Given the description of an element on the screen output the (x, y) to click on. 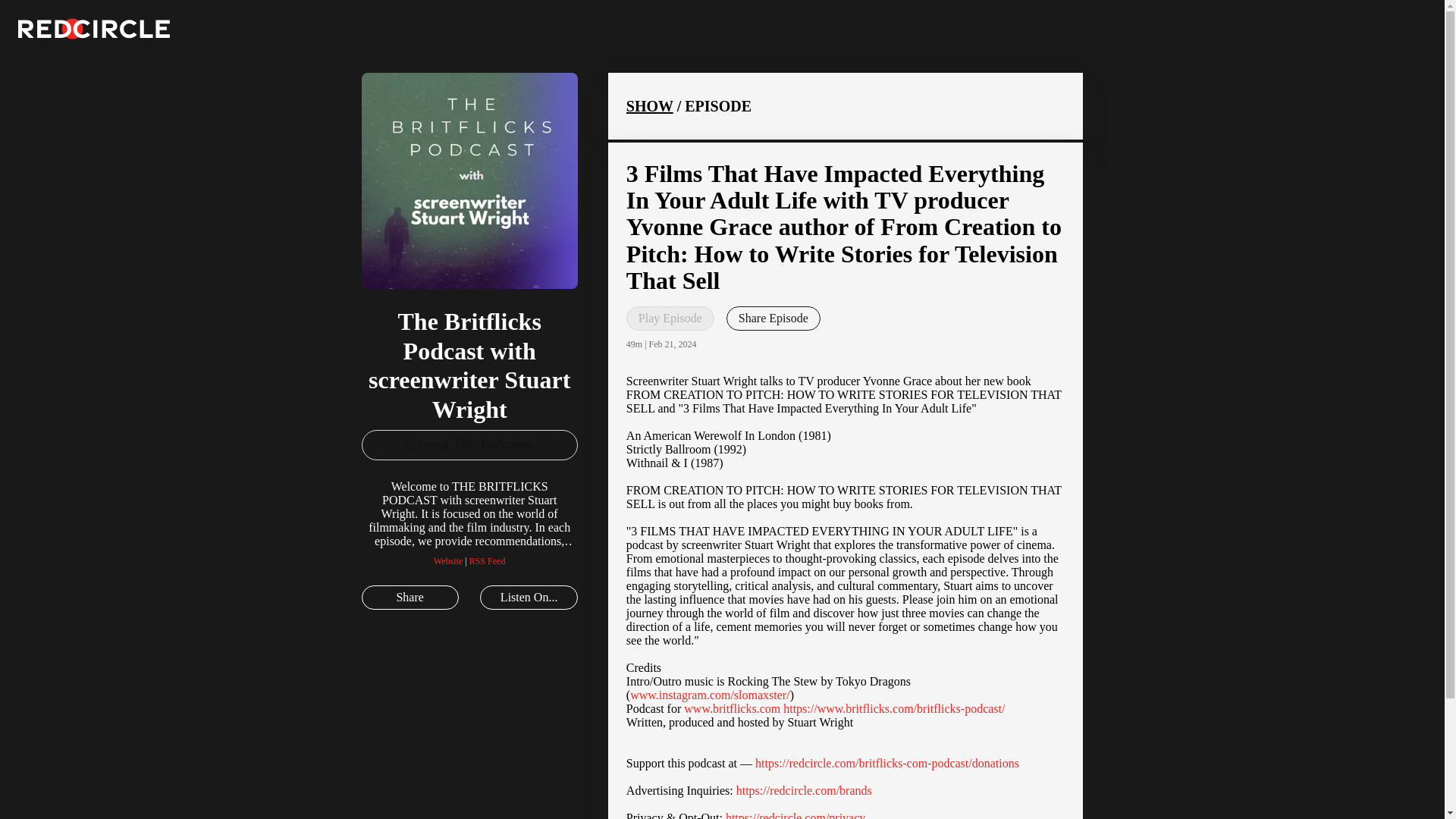
SHOW (649, 105)
Website (448, 561)
www.britflicks.com (732, 707)
Share Episode (773, 318)
Sponsor This Podcaster (468, 444)
RSS Feed (486, 561)
Play Episode (670, 318)
Share (409, 597)
Listen On... (528, 597)
